Given the description of an element on the screen output the (x, y) to click on. 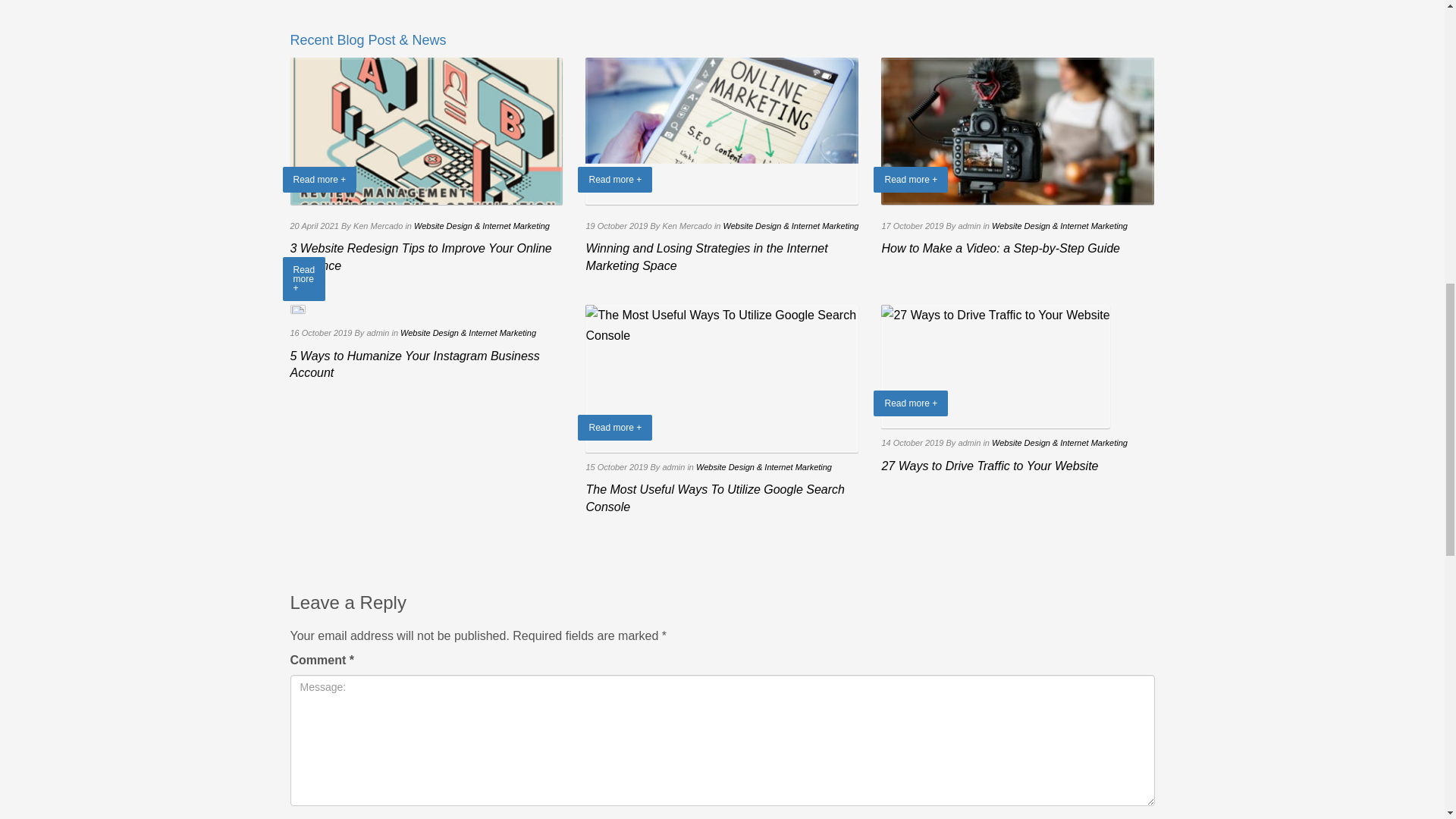
How to Make a Video: a Step-by-Step Guide (999, 247)
The Most Useful Ways To Utilize Google Search Console (722, 378)
3-Website-Redesign-Tips-to-Improve-Your-Online-Presence (425, 131)
3 Website Redesign Tips to Improve Your Online Presence (420, 256)
5 Ways to Humanize Your Instagram Business Account (413, 364)
27 Ways to Drive Traffic to Your Website (988, 465)
5-ways-to-humanize-your-instagram (296, 308)
27 Ways to Drive Traffic to Your Website (994, 366)
How to Make a Video: a Step-by-Step Guide (1017, 131)
Winning and Losing Strategies in the Internet Marketing (722, 131)
The Most Useful Ways To Utilize Google Search Console (714, 497)
